Given the description of an element on the screen output the (x, y) to click on. 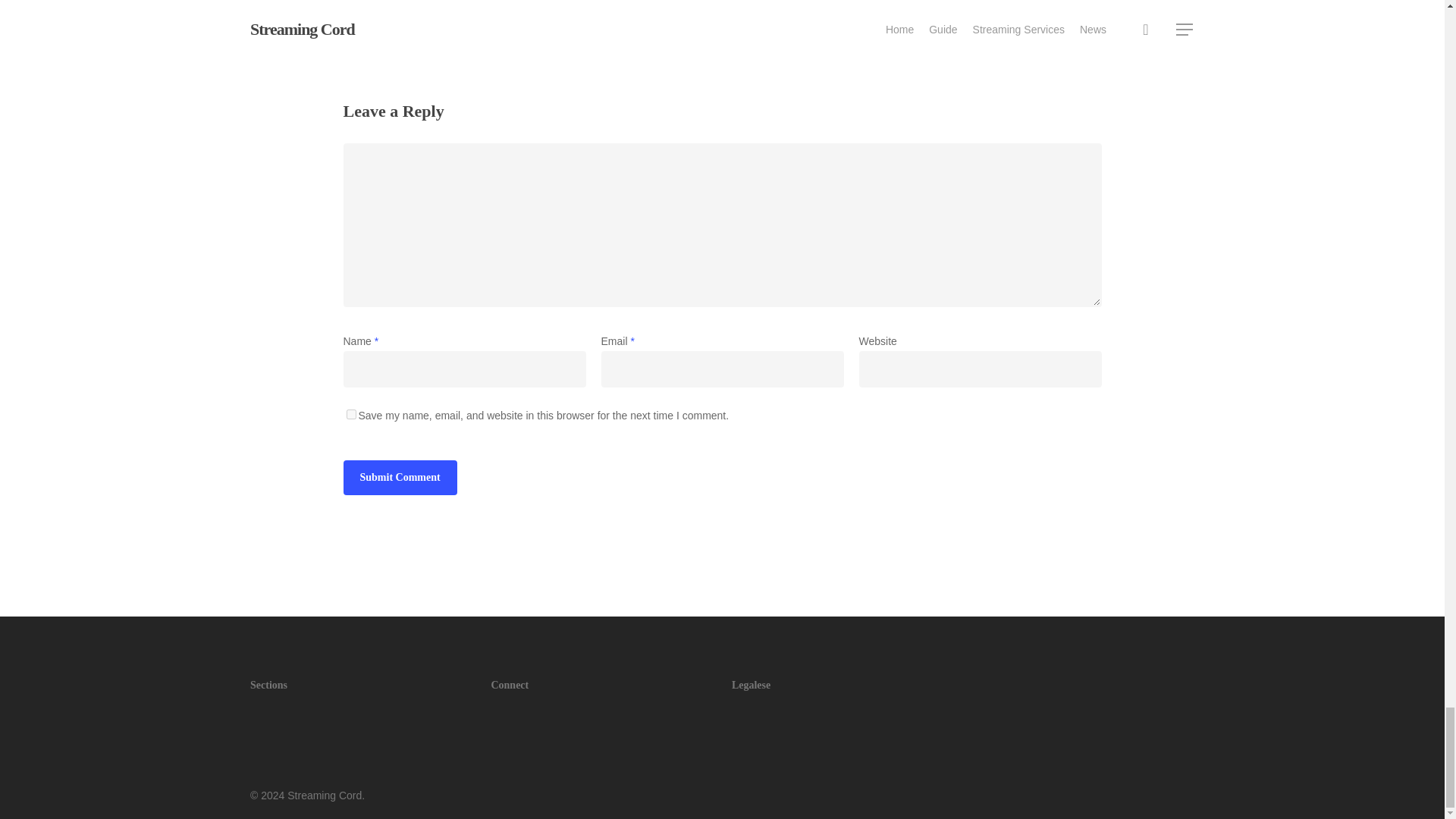
Submit Comment (399, 477)
Submit Comment (399, 477)
yes (350, 414)
